Given the description of an element on the screen output the (x, y) to click on. 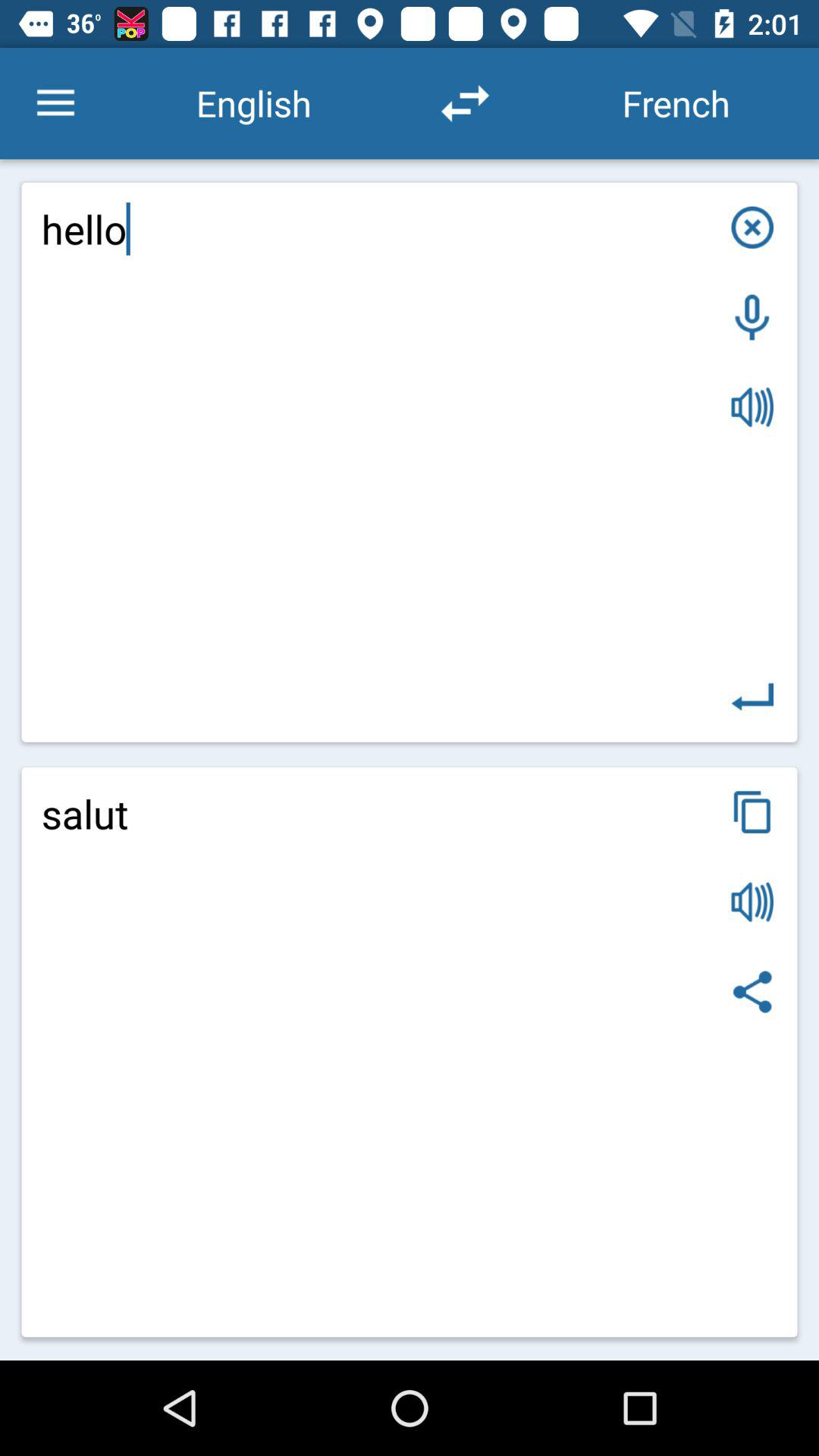
press the icon below french (752, 227)
